Given the description of an element on the screen output the (x, y) to click on. 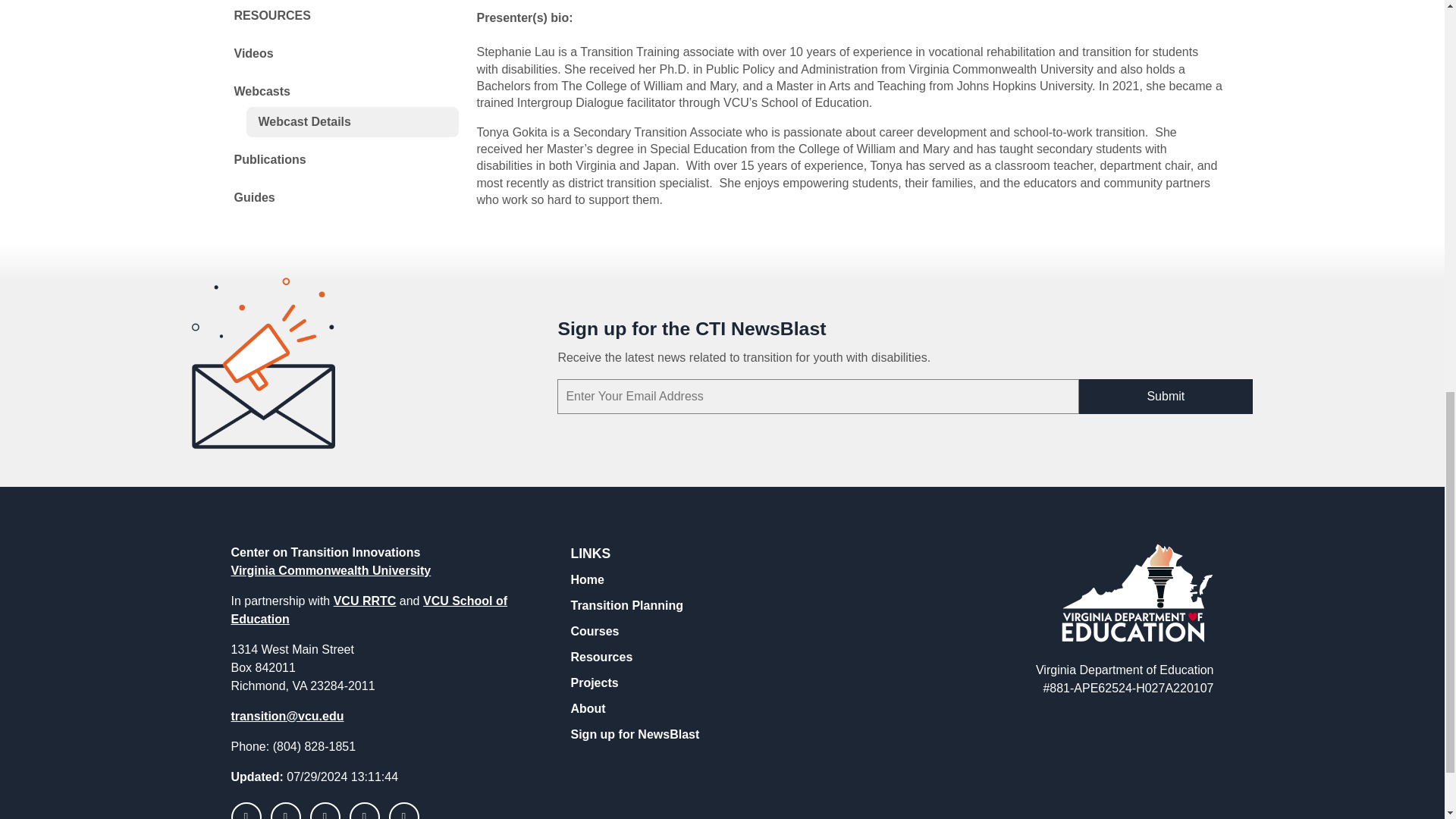
Submit (1165, 396)
